Given the description of an element on the screen output the (x, y) to click on. 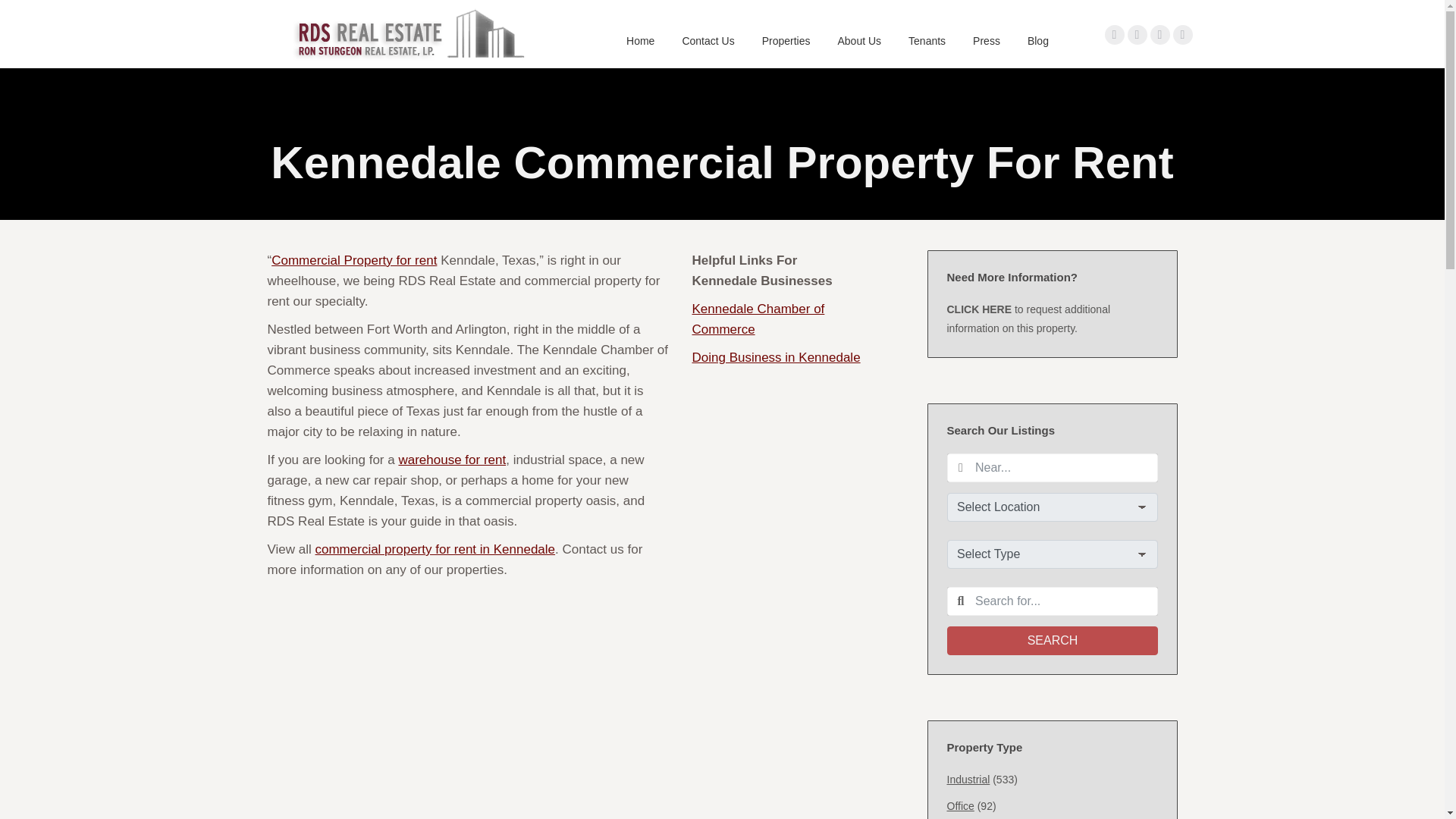
X page opens in new window (1136, 34)
Facebook page opens in new window (1113, 34)
Press (986, 40)
Properties (785, 40)
About Us (858, 40)
YouTube page opens in new window (1159, 34)
Tenants (927, 40)
Contact Us (707, 40)
Home (640, 40)
Facebook page opens in new window (1113, 34)
X page opens in new window (1136, 34)
YouTube page opens in new window (1159, 34)
Instagram page opens in new window (1182, 34)
Instagram page opens in new window (1182, 34)
